Given the description of an element on the screen output the (x, y) to click on. 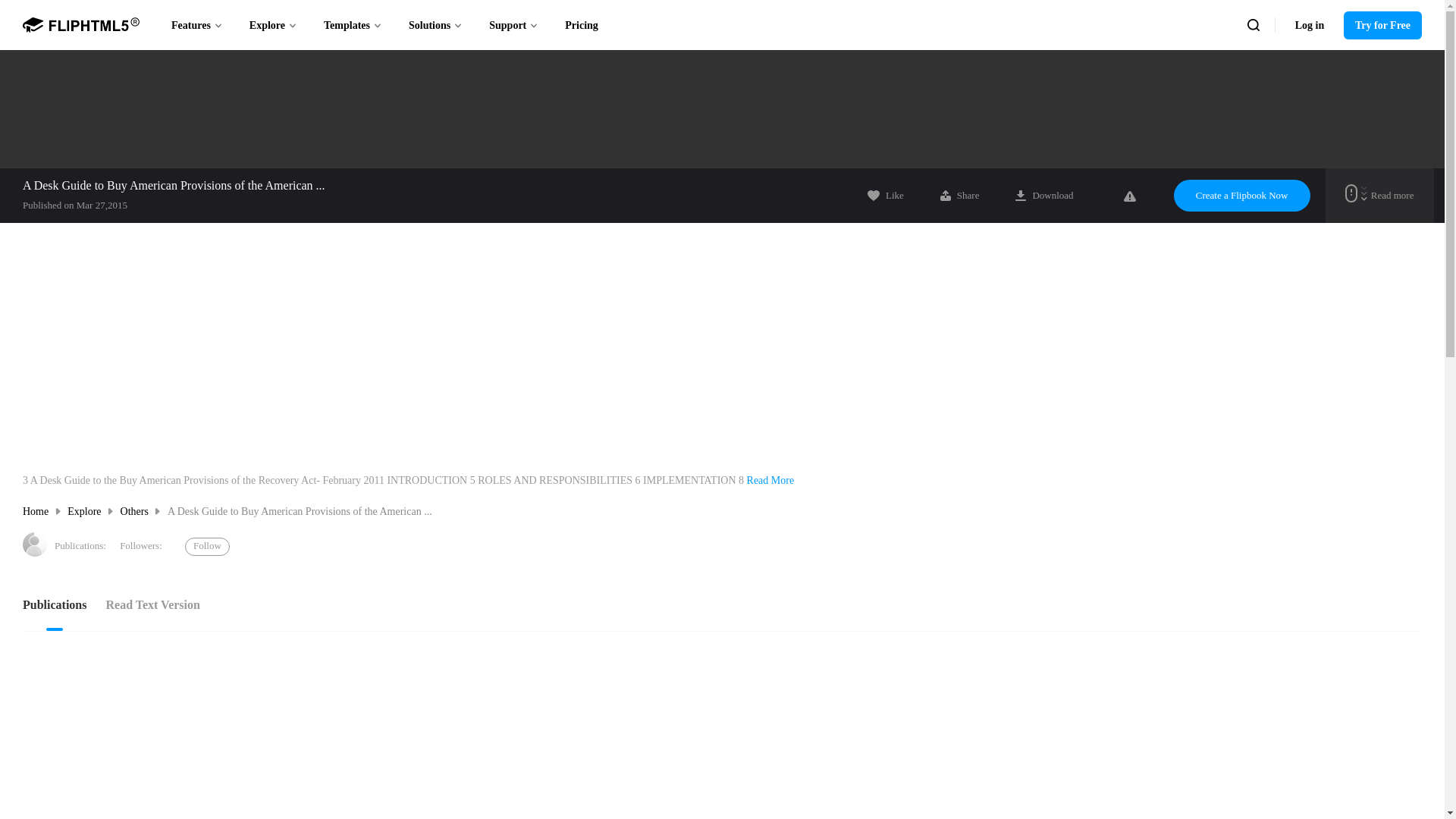
Features (196, 24)
The publisher doesn't allow readers to download this book. (1043, 195)
Add to My Favorites (885, 195)
Visit Homepage (34, 544)
Explore (272, 24)
